Given the description of an element on the screen output the (x, y) to click on. 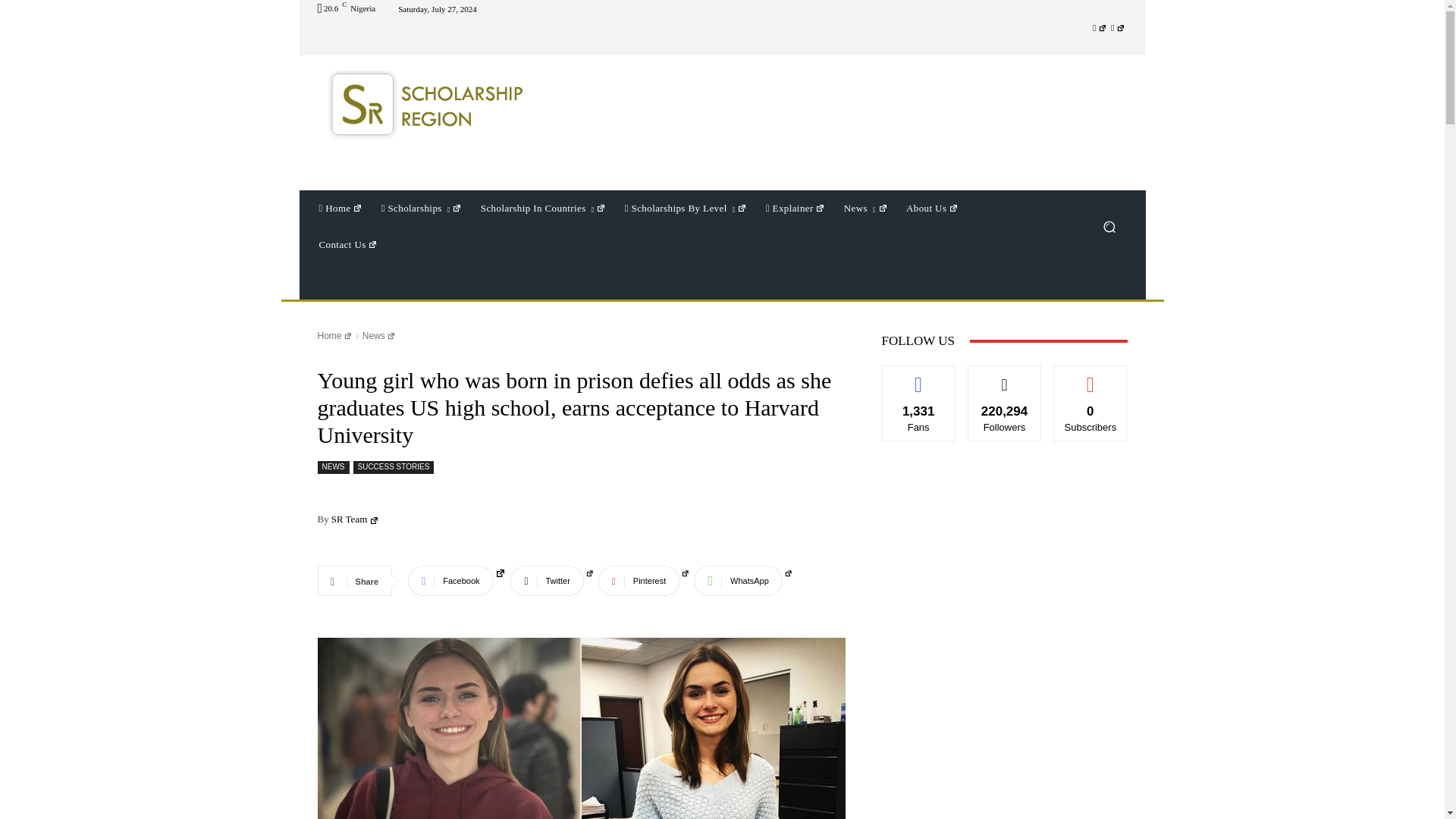
Facebook (1099, 27)
Twitter (1117, 27)
